Given the description of an element on the screen output the (x, y) to click on. 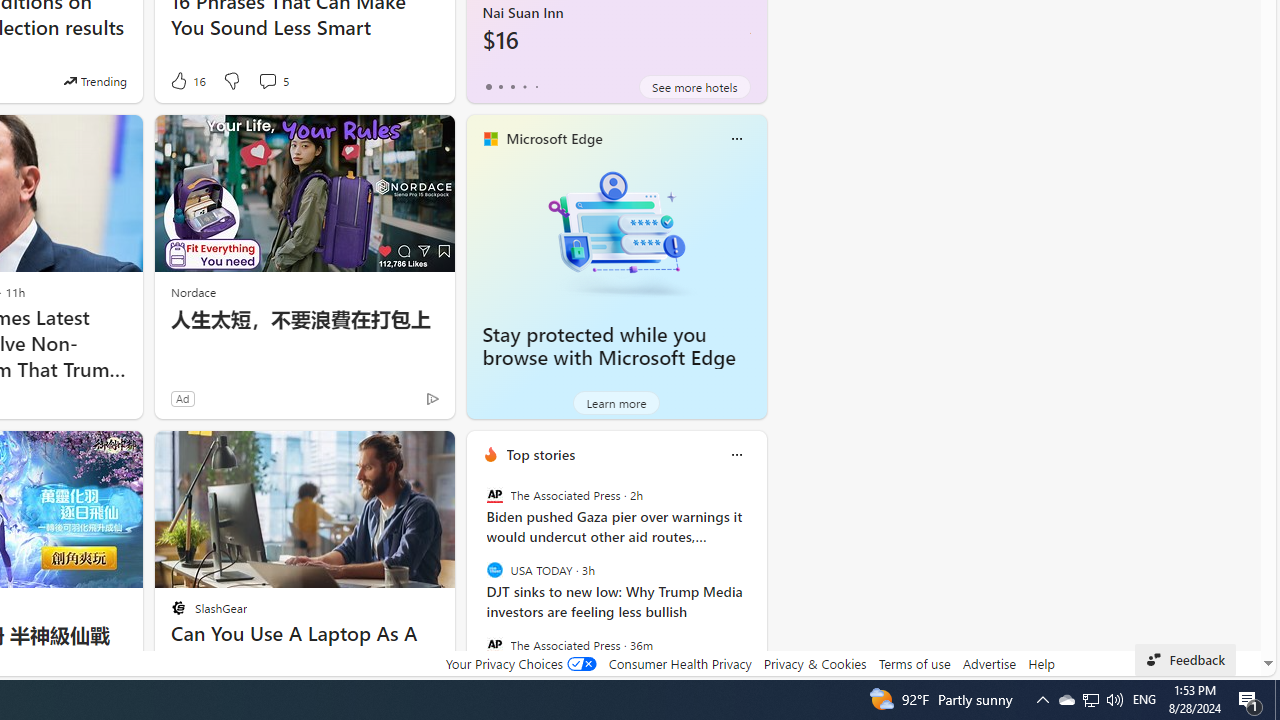
This story is trending (95, 80)
tab-3 (524, 86)
View comments 5 Comment (267, 80)
tab-4 (535, 86)
Your Privacy Choices (520, 663)
USA TODAY (494, 570)
Privacy & Cookies (814, 663)
Stay protected while you browse with Microsoft Edge (609, 346)
